Given the description of an element on the screen output the (x, y) to click on. 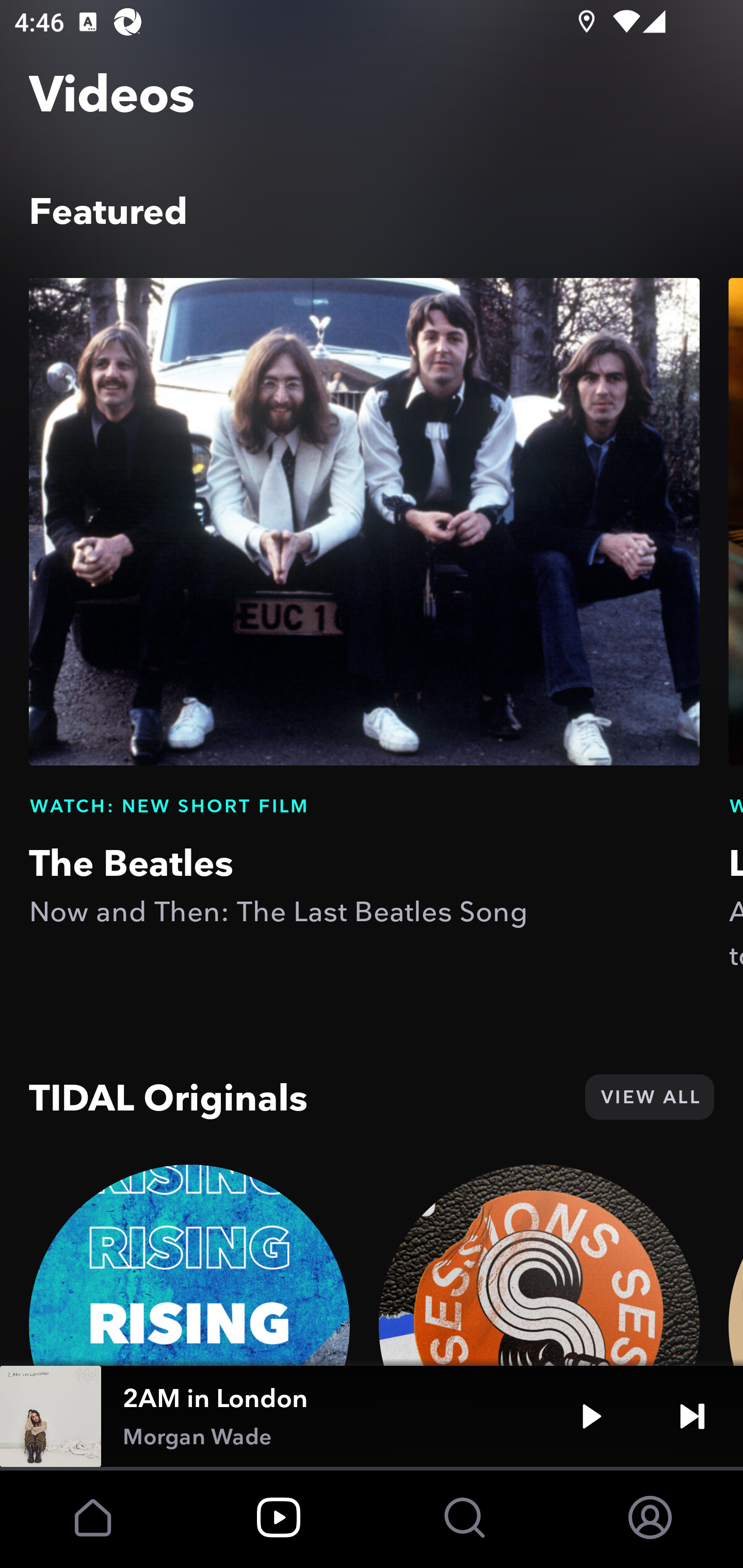
VIEW ALL (649, 1096)
2AM in London Morgan Wade Play (371, 1416)
Play (590, 1416)
